Given the description of an element on the screen output the (x, y) to click on. 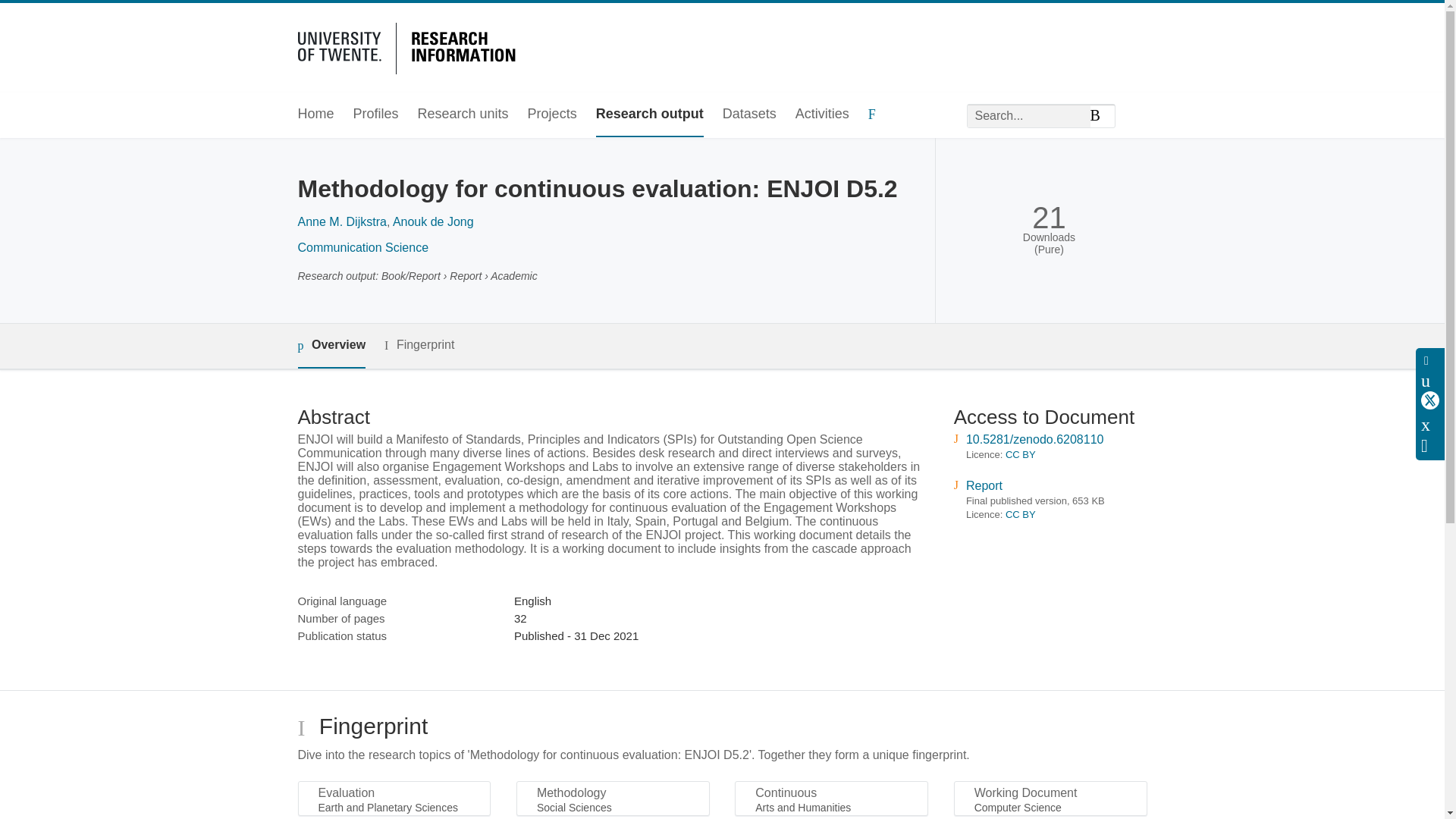
CC BY (1020, 454)
Overview (331, 345)
Anne M. Dijkstra (341, 221)
Research units (462, 114)
University of Twente Research Information Home (409, 45)
Datasets (749, 114)
CC BY (1020, 514)
Activities (821, 114)
Anouk de Jong (433, 221)
Fingerprint (419, 344)
Communication Science (362, 246)
Research output (649, 114)
Projects (551, 114)
Report (984, 485)
